Given the description of an element on the screen output the (x, y) to click on. 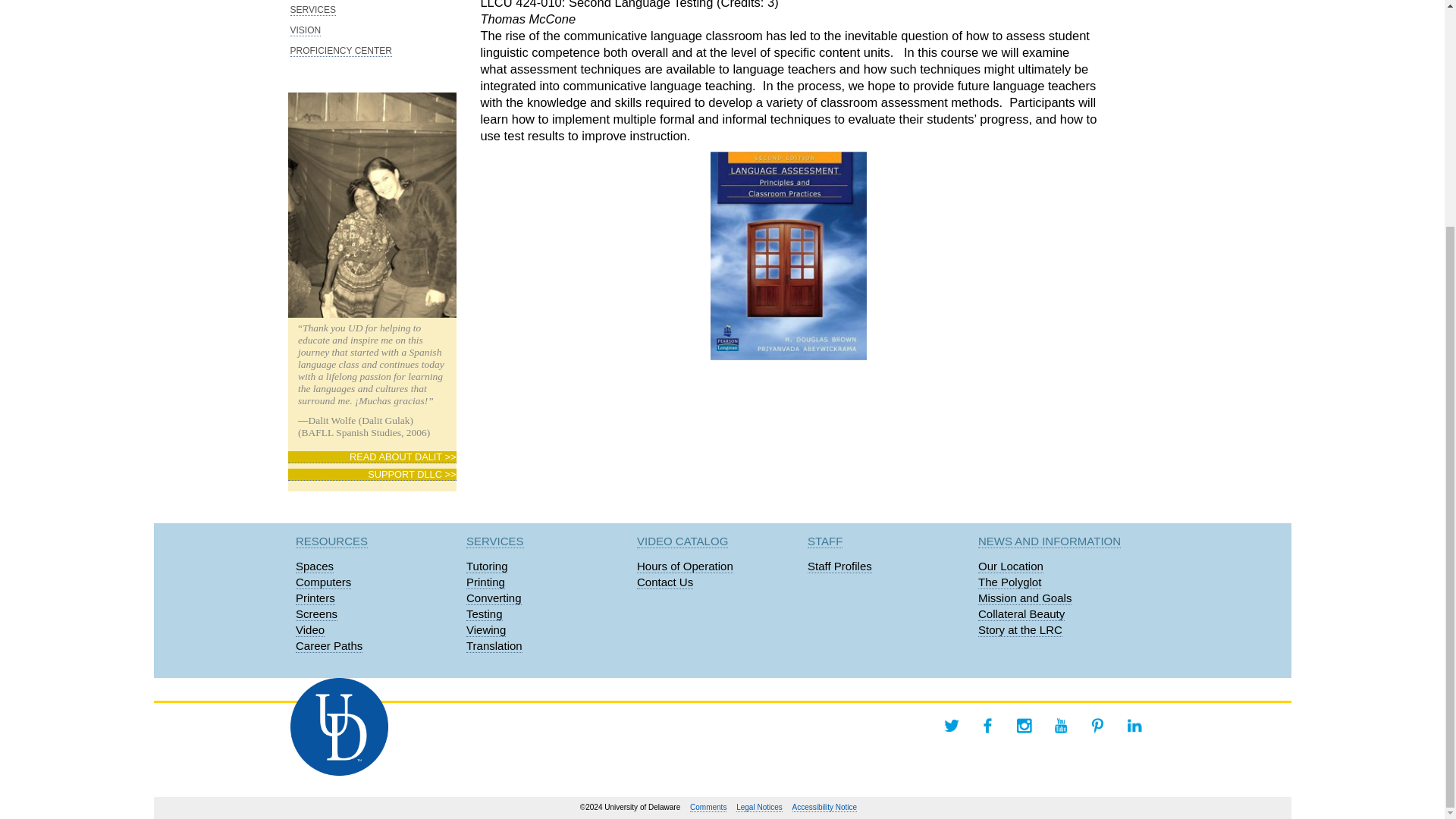
Pinterest (1096, 725)
Instagram (1024, 725)
Facebook (987, 725)
SERVICES (311, 9)
Twitter (951, 725)
Linkedin (1134, 725)
Twitter (951, 725)
Pinterest (1097, 725)
Instagram (1024, 725)
Linkedin (1133, 725)
Youtube (1060, 725)
PROFICIENCY CENTER (340, 50)
Youtube (1060, 725)
Facebook (987, 725)
VISION (304, 30)
